Given the description of an element on the screen output the (x, y) to click on. 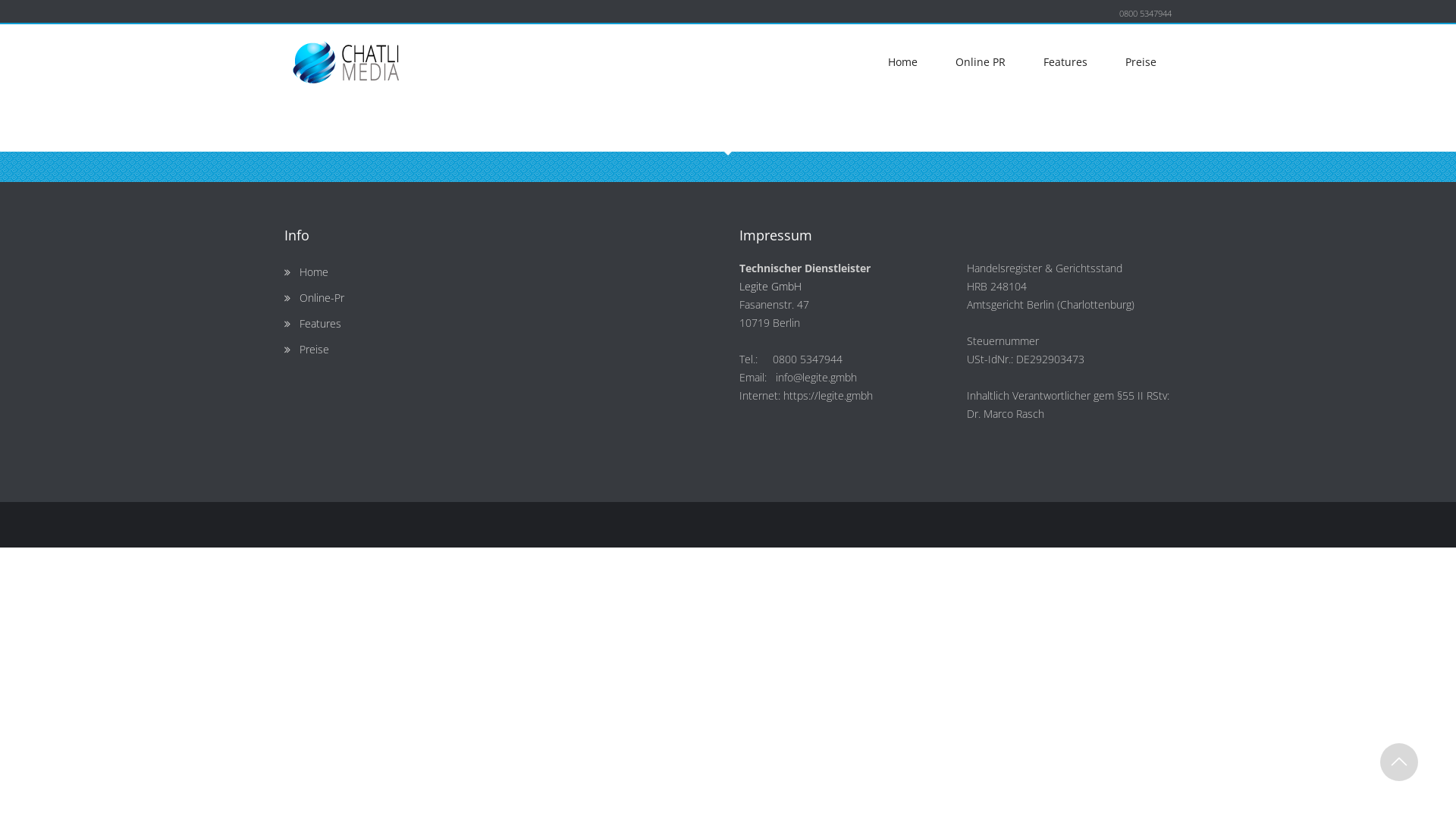
Home Element type: text (313, 271)
Home Element type: text (902, 61)
Online-Pr Element type: text (321, 297)
Preise Element type: text (1140, 61)
Preise Element type: text (314, 349)
Features Element type: text (320, 323)
Features Element type: text (1065, 61)
Legite GmbH Element type: text (770, 286)
Online PR Element type: text (980, 61)
